Given the description of an element on the screen output the (x, y) to click on. 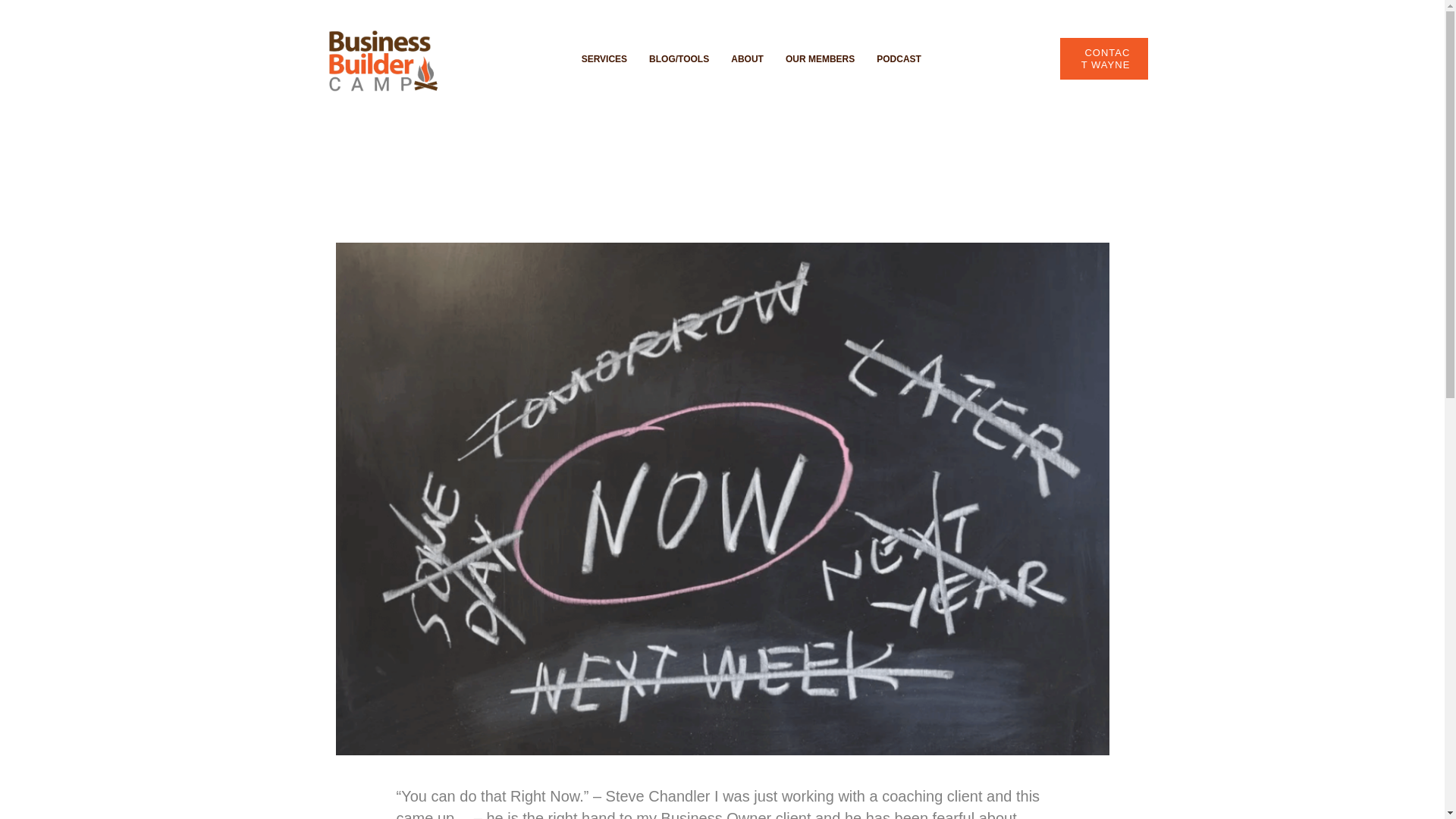
PODCAST (898, 59)
CONTACT WAYNE (1103, 58)
SERVICES (603, 59)
OUR MEMBERS (819, 59)
BBClogo (381, 62)
ABOUT (747, 59)
